Given the description of an element on the screen output the (x, y) to click on. 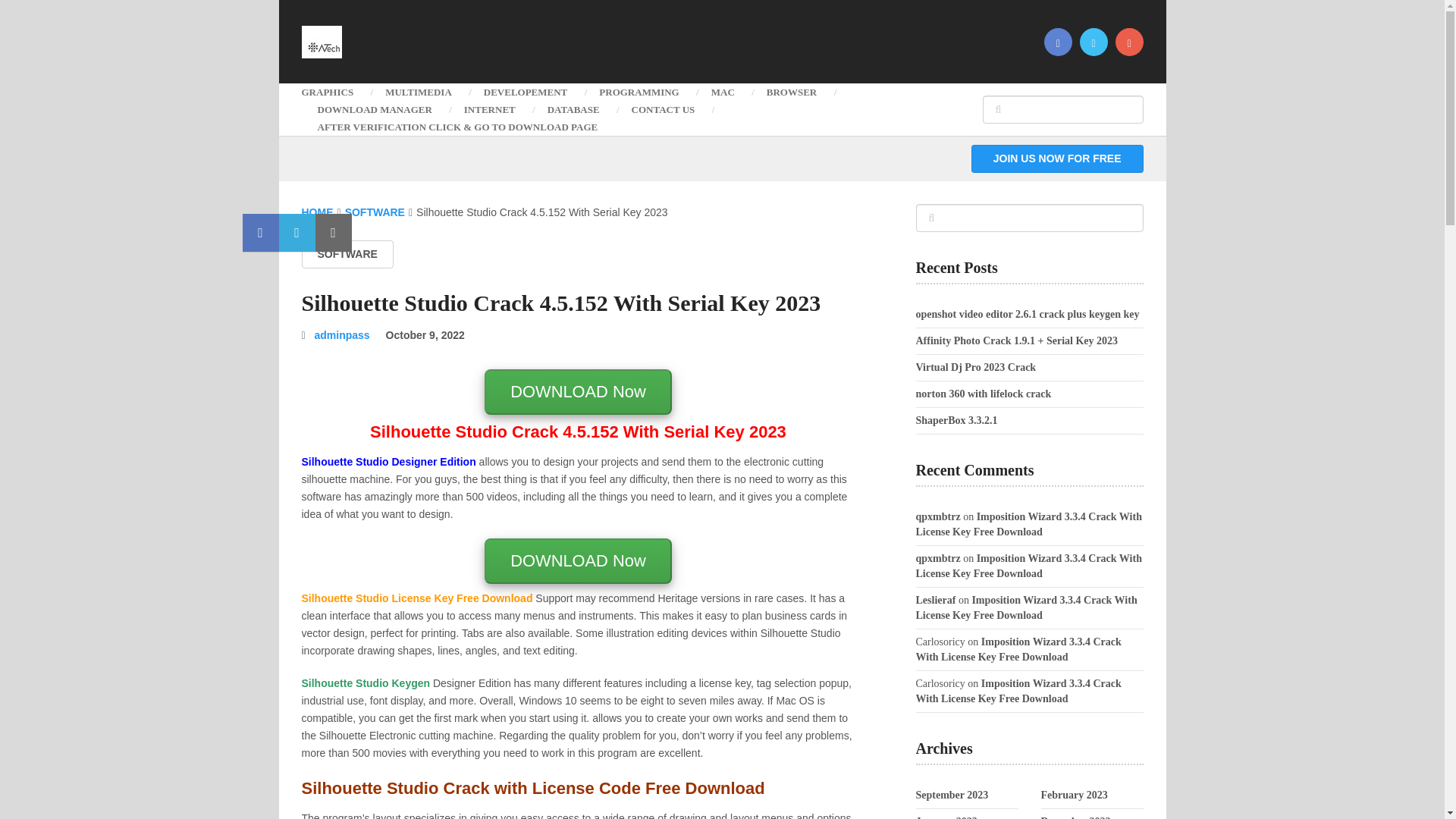
Silhouette Studio Designer Edition (388, 461)
DEVELOPEMENT (525, 91)
HOME (317, 212)
MAC (723, 91)
DOWNLOAD MANAGER (374, 108)
SOFTWARE (347, 254)
DOWNLOAD Now (577, 562)
INTERNET (489, 108)
Posts by adminpass (341, 335)
DATABASE (573, 108)
